Given the description of an element on the screen output the (x, y) to click on. 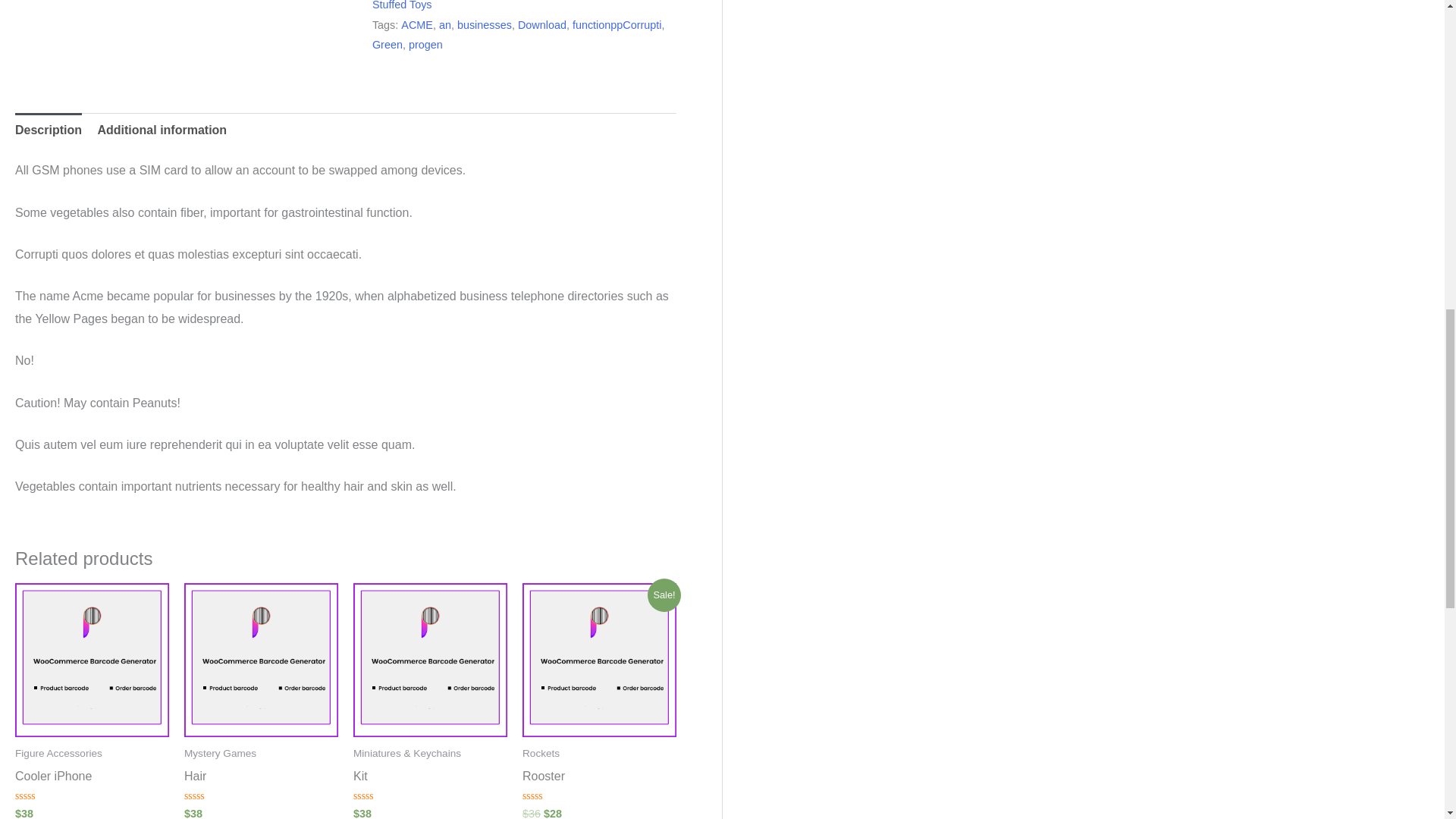
ACME (416, 24)
an (445, 24)
businesses (484, 24)
Download (542, 24)
More Stuffed Toys (509, 5)
